Given the description of an element on the screen output the (x, y) to click on. 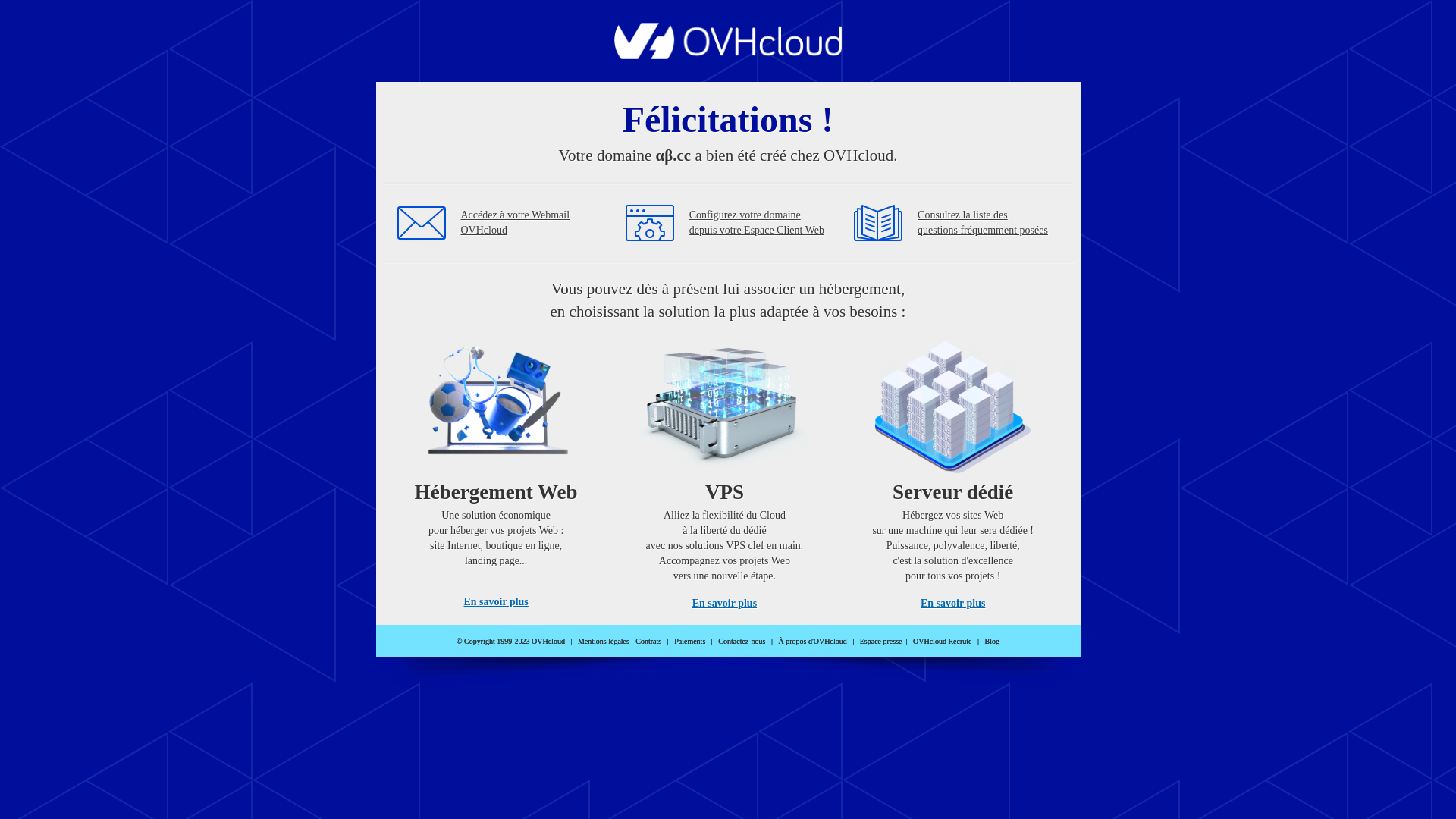
En savoir plus Element type: text (495, 601)
En savoir plus Element type: text (952, 602)
OVHcloud Element type: hover (727, 54)
Paiements Element type: text (689, 641)
Blog Element type: text (992, 641)
Espace presse Element type: text (880, 641)
VPS Element type: hover (724, 469)
Contactez-nous Element type: text (741, 641)
Configurez votre domaine
depuis votre Espace Client Web Element type: text (756, 222)
En savoir plus Element type: text (724, 602)
OVHcloud Recrute Element type: text (942, 641)
